Given the description of an element on the screen output the (x, y) to click on. 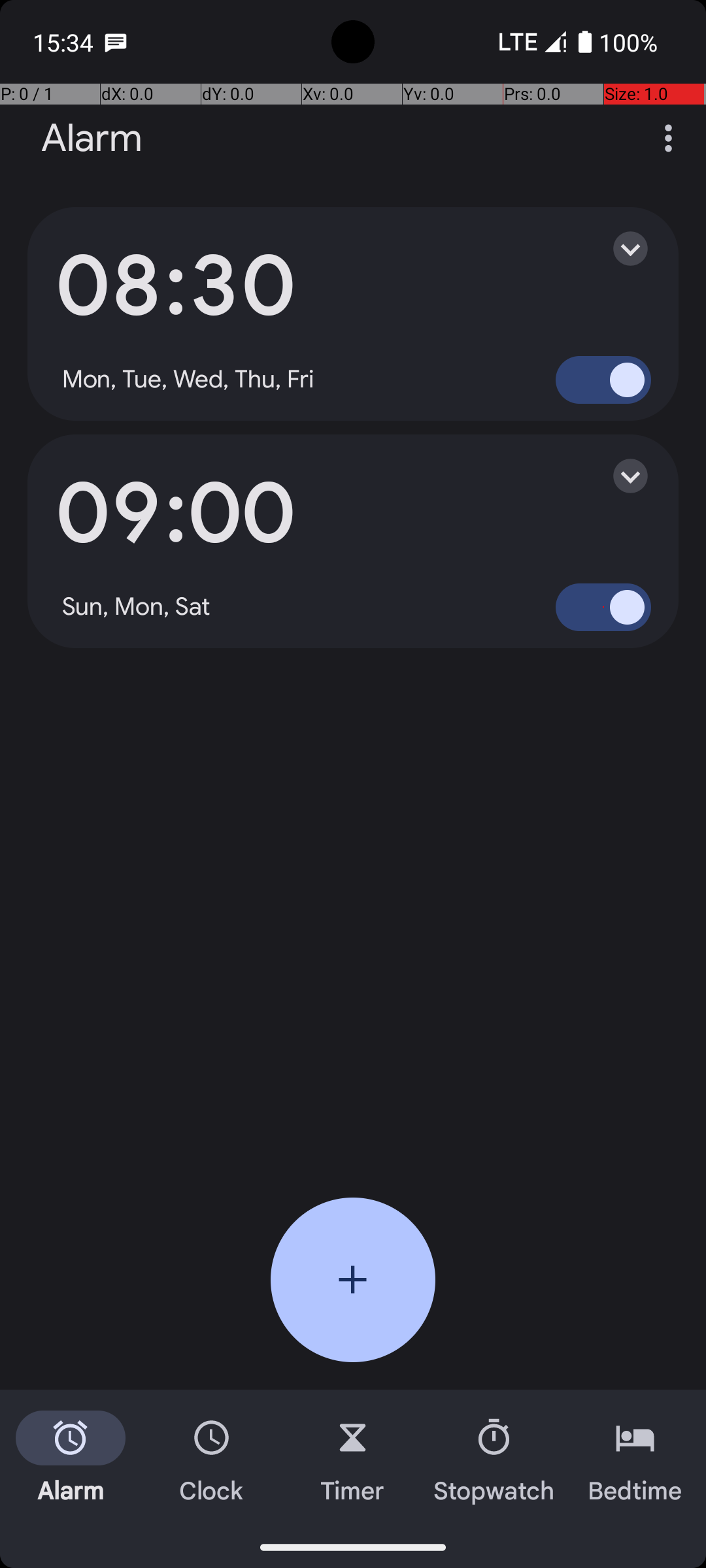
Mon, Tue, Wed, Thu, Fri Element type: android.widget.TextView (187, 379)
Sun, Mon, Sat Element type: android.widget.TextView (136, 606)
